Given the description of an element on the screen output the (x, y) to click on. 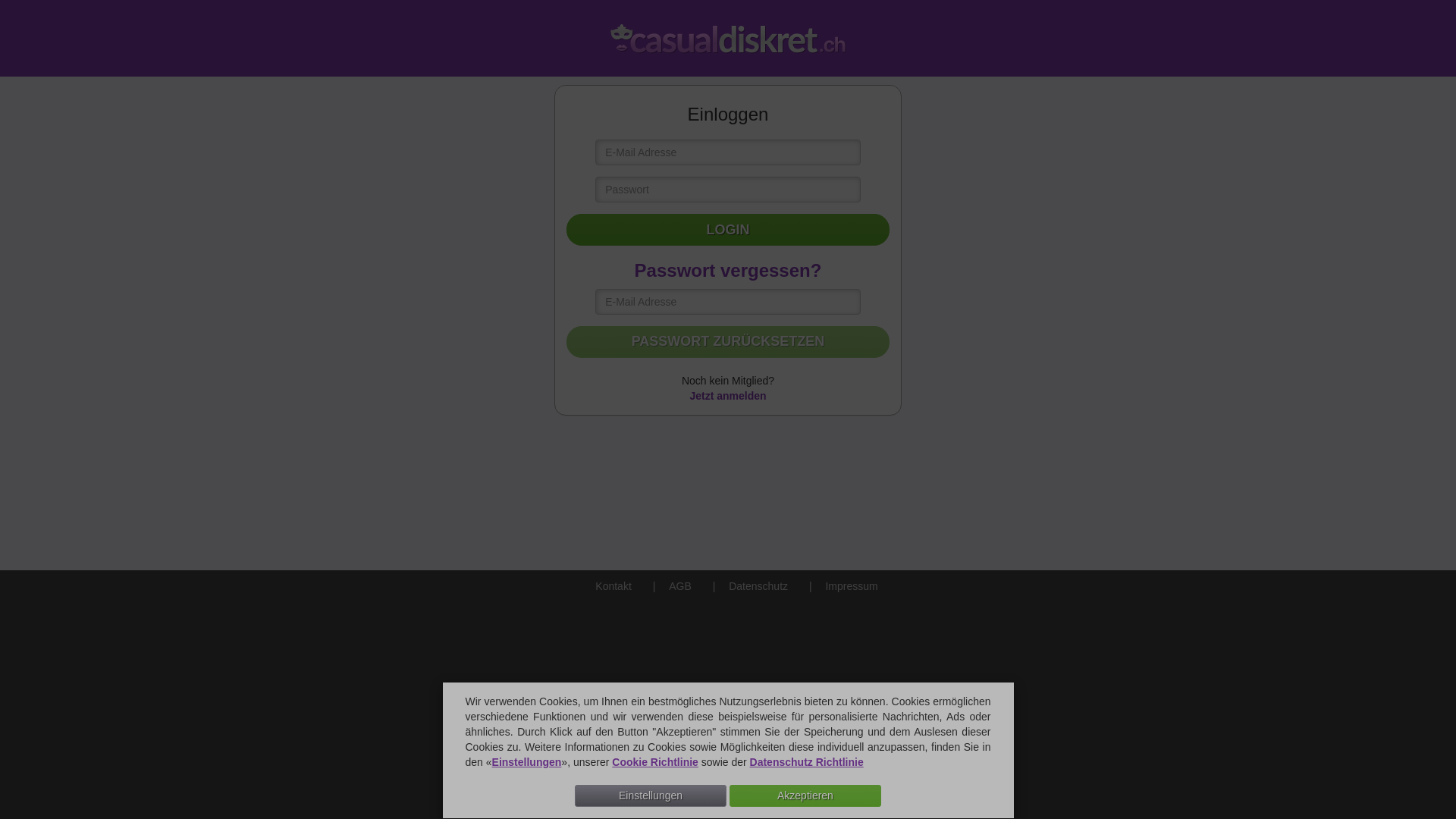
Jetzt anmelden Element type: text (727, 395)
Datenschutz Richtlinie Element type: text (806, 762)
Impressum Element type: text (838, 586)
Cookie Richtlinie Element type: text (654, 762)
Login Element type: text (727, 229)
Datenschutz Element type: text (744, 586)
AGB Element type: text (666, 586)
Einstellungen Element type: text (526, 762)
Kontakt Element type: text (602, 586)
